Given the description of an element on the screen output the (x, y) to click on. 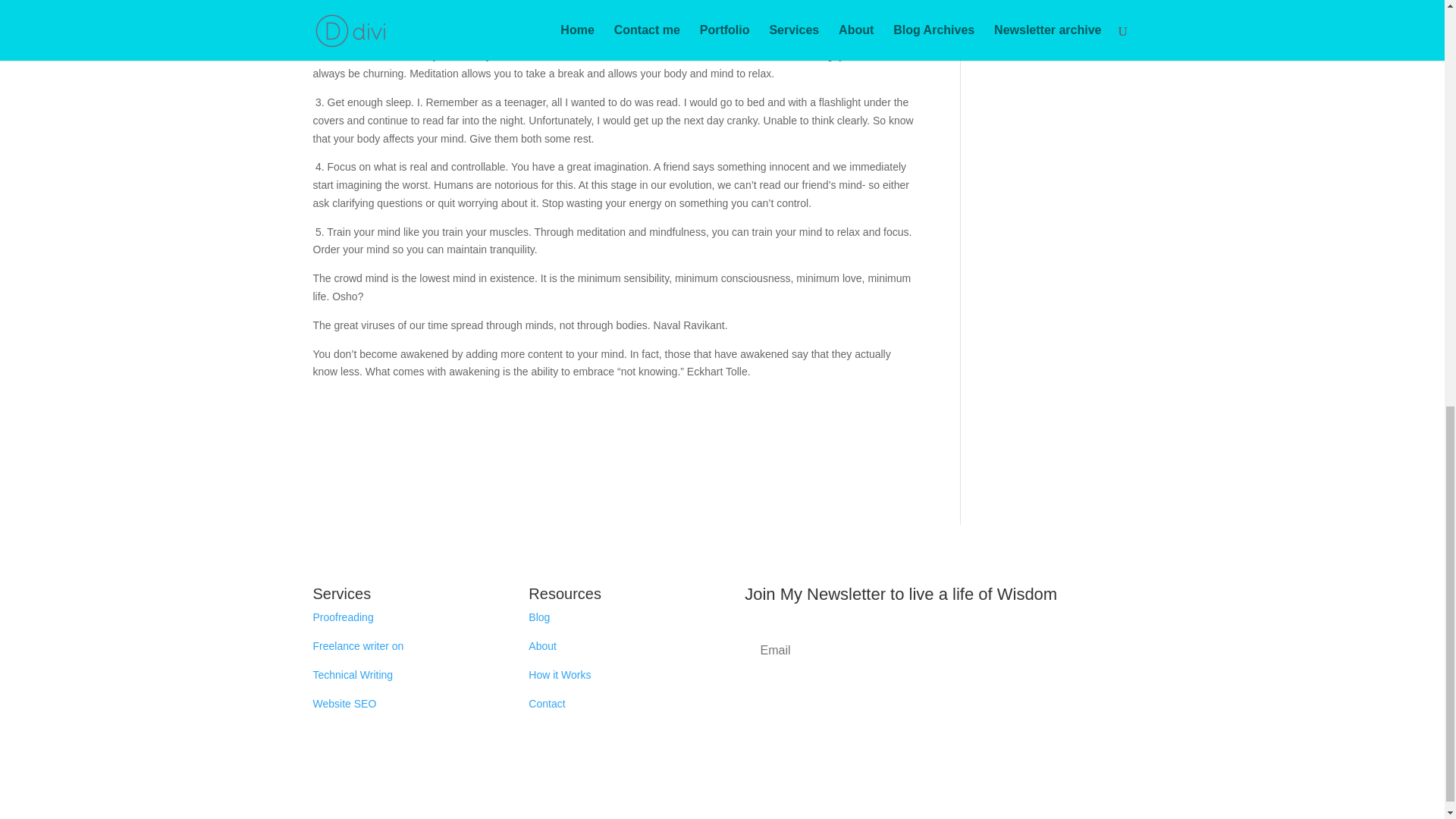
Proofreading (342, 616)
Technical Writing (353, 674)
Subscribe (937, 697)
Blog (539, 616)
Follow on Instagram (967, 751)
Website SEO (344, 703)
Freelance writer on  (359, 645)
Follow on X (938, 751)
How it Works (559, 674)
Contact (546, 703)
Follow on Facebook (907, 751)
About (542, 645)
